Given the description of an element on the screen output the (x, y) to click on. 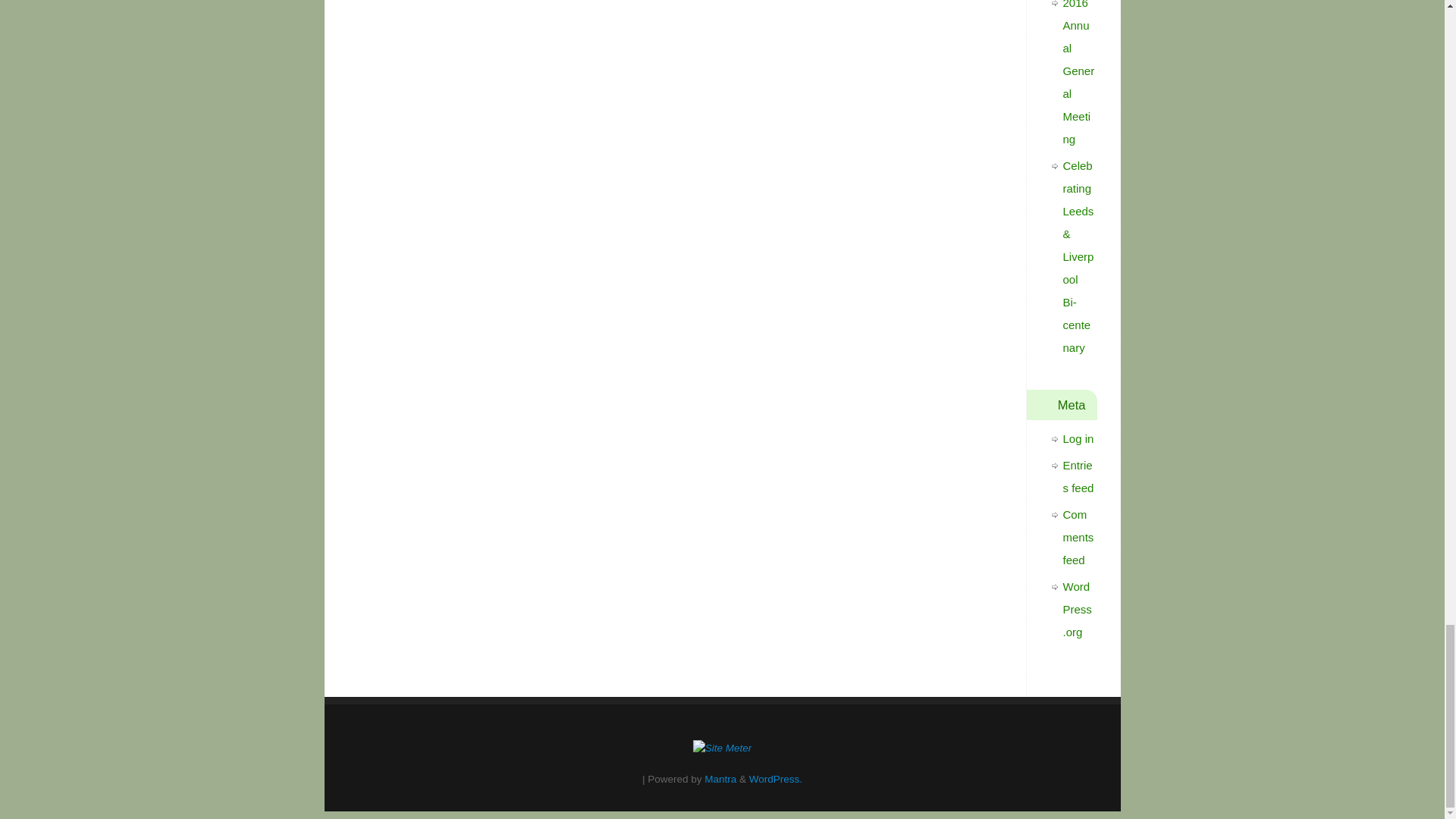
Semantic Personal Publishing Platform (775, 778)
Mantra Theme by Cryout Creations (720, 778)
Mantra (720, 778)
WordPress. (775, 778)
Log in (1078, 438)
